Given the description of an element on the screen output the (x, y) to click on. 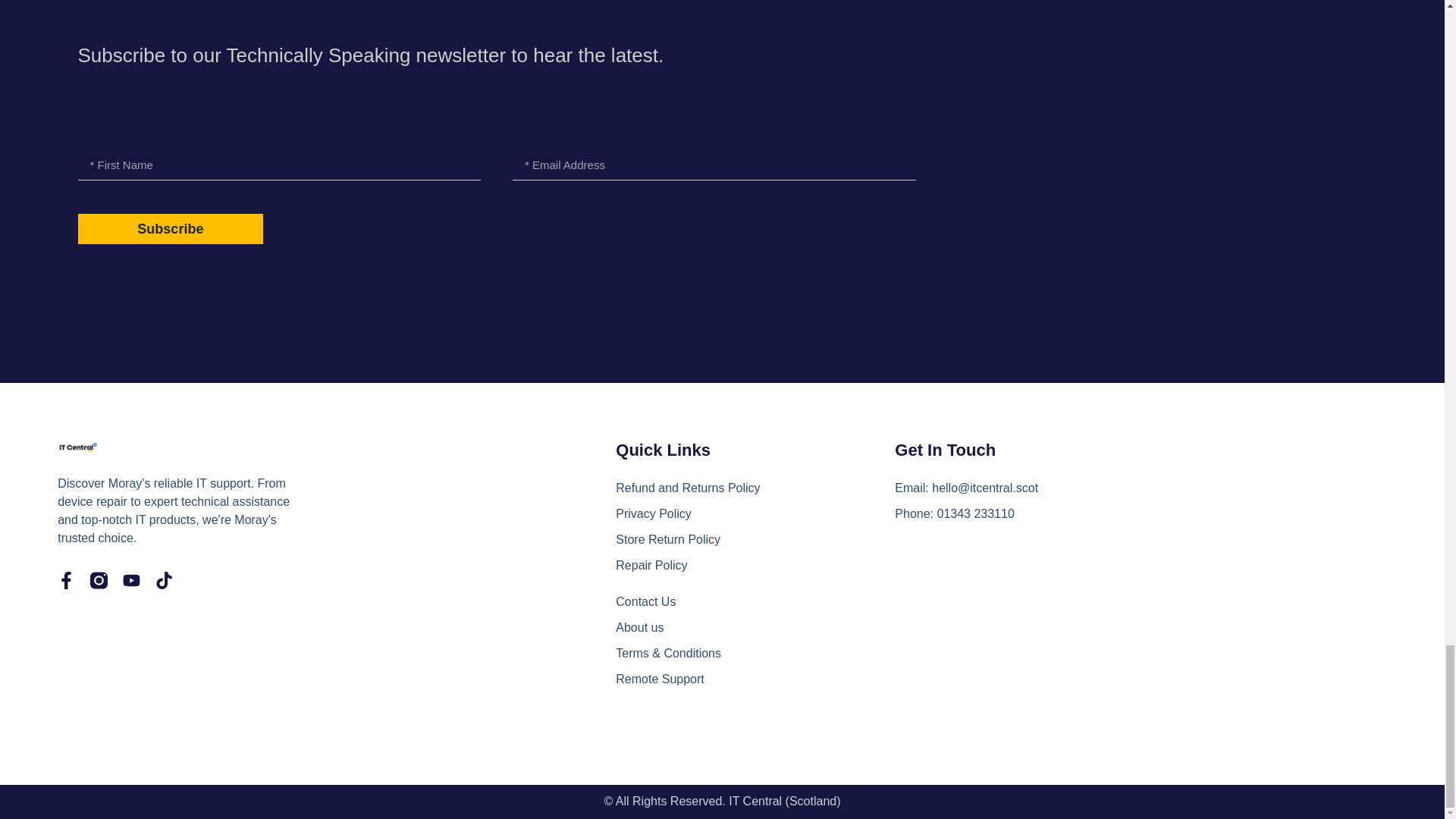
IT Central Scotland (1127, 634)
